Given the description of an element on the screen output the (x, y) to click on. 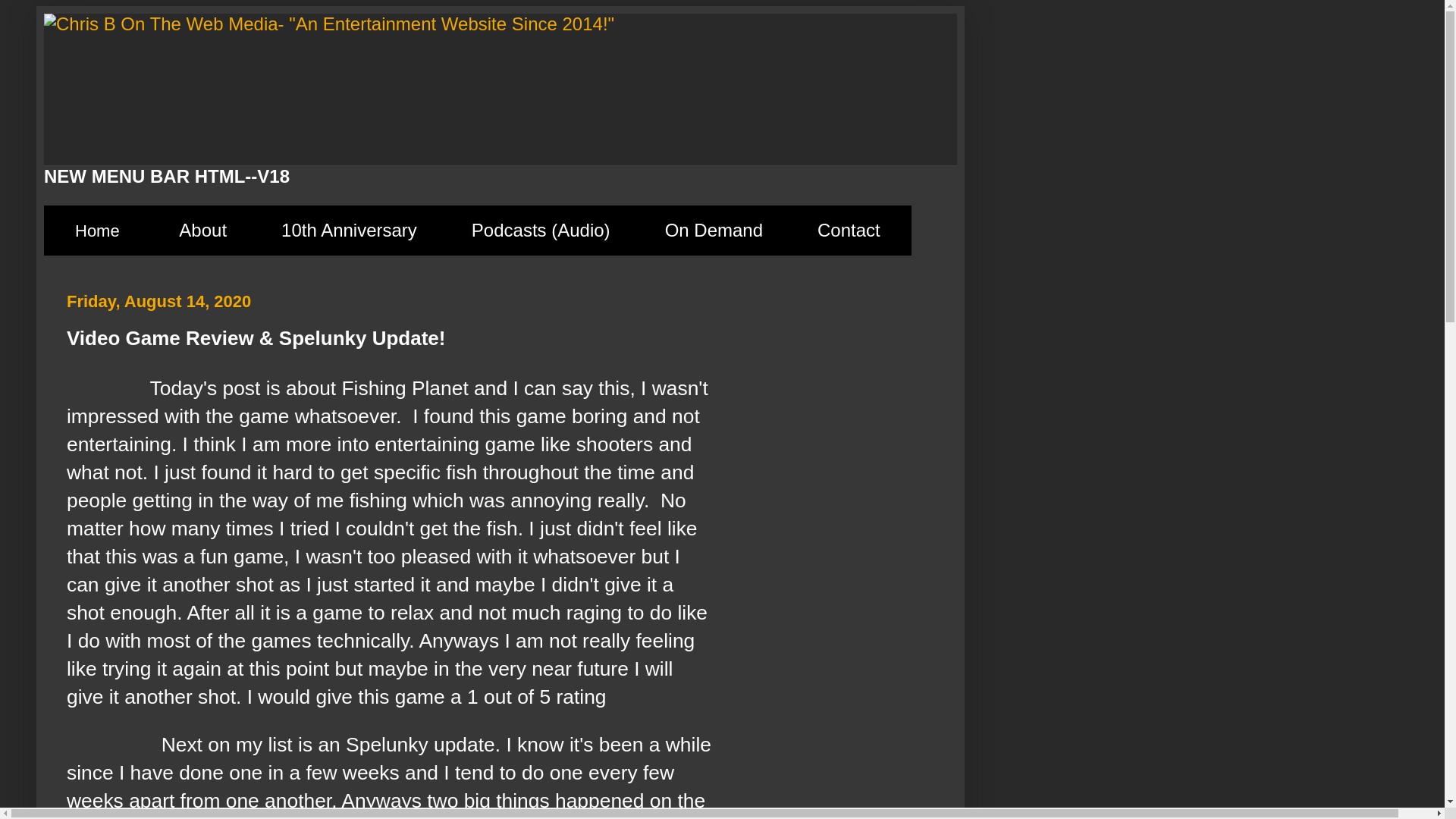
Home (97, 230)
